Given the description of an element on the screen output the (x, y) to click on. 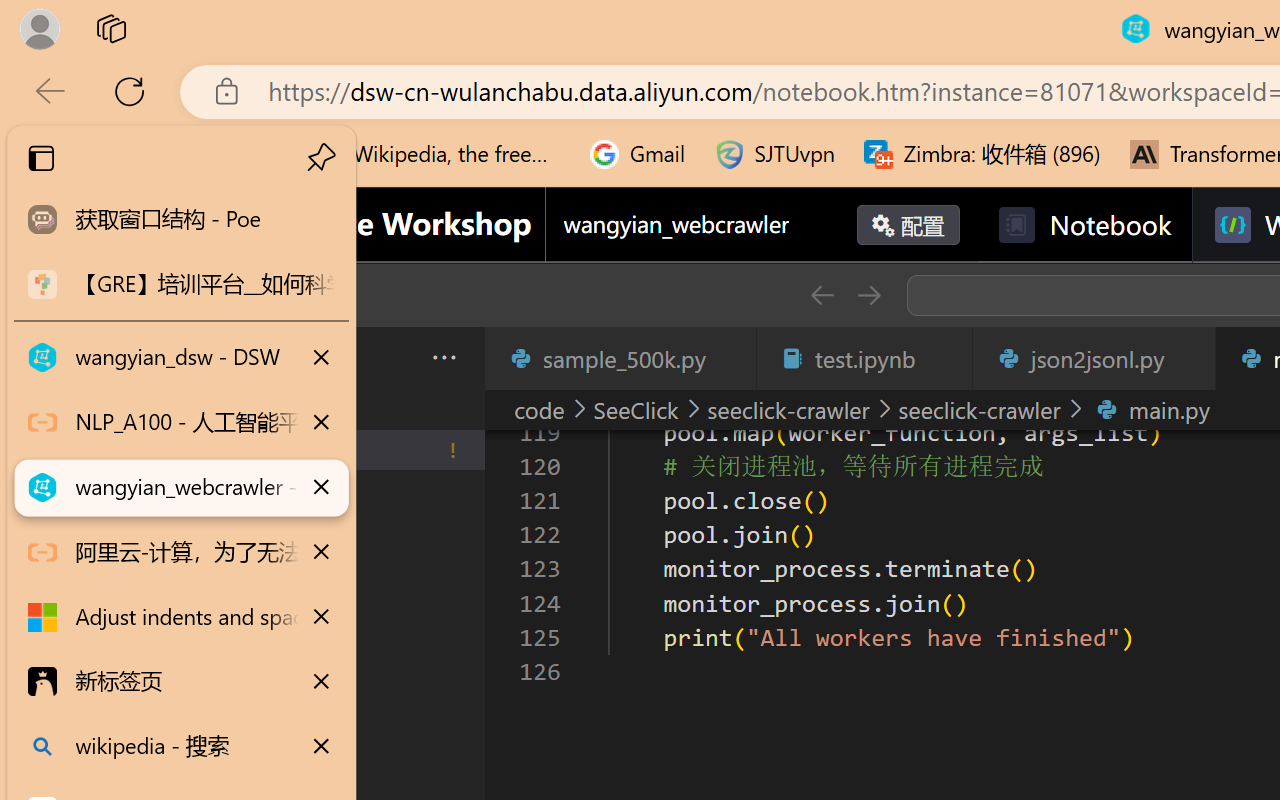
sample_500k.py (619, 358)
json2jsonl.py (1092, 358)
wangyian_dsw - DSW (181, 357)
wangyian_webcrawler - DSW (181, 487)
Tab actions (1188, 358)
Notebook (1083, 225)
